Given the description of an element on the screen output the (x, y) to click on. 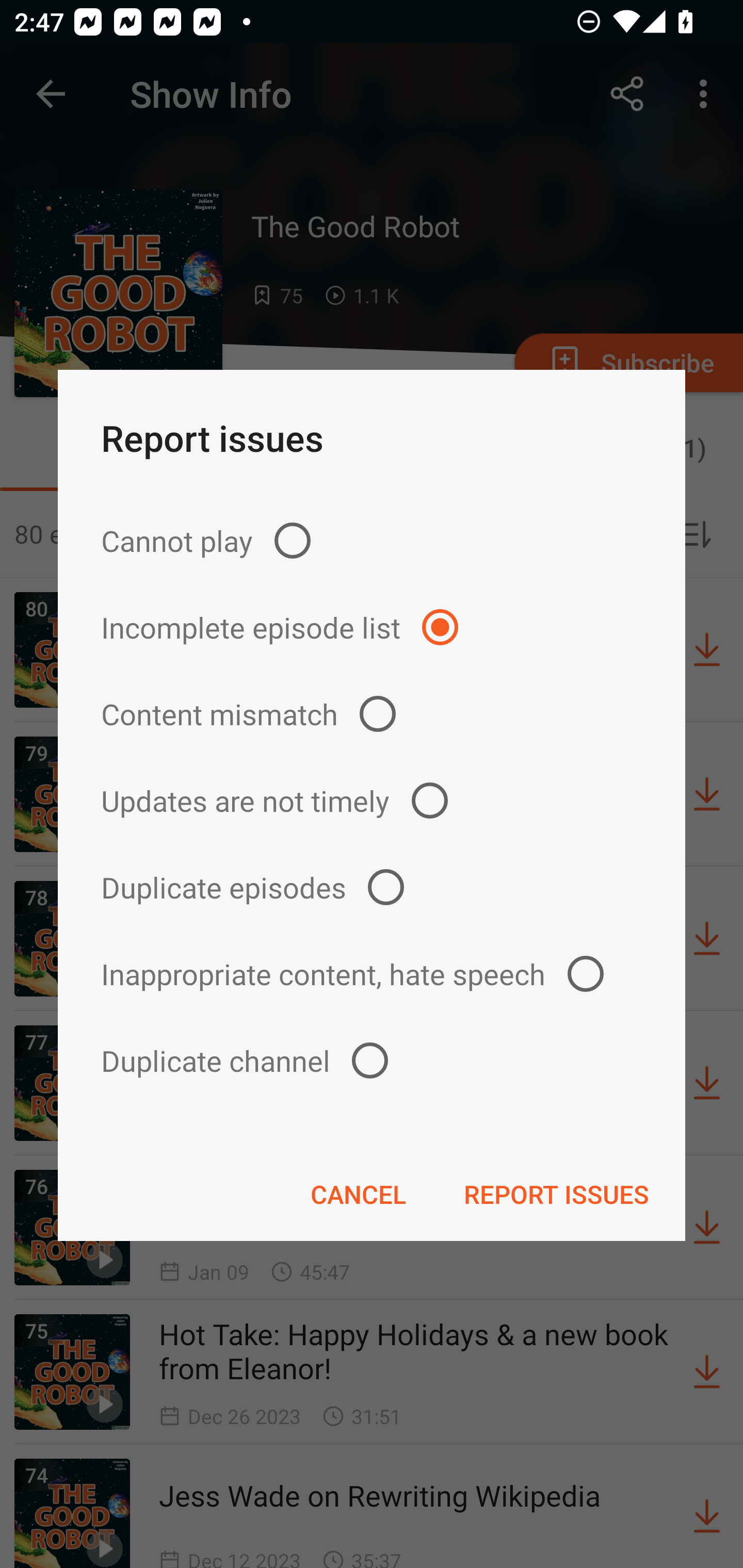
Cannot play (371, 540)
Incomplete episode list (371, 627)
Content mismatch (371, 714)
Updates are not timely (371, 800)
Duplicate episodes (371, 886)
Inappropriate content, hate speech (371, 973)
Duplicate channel (371, 1060)
CANCEL (357, 1193)
REPORT ISSUES (555, 1193)
